Given the description of an element on the screen output the (x, y) to click on. 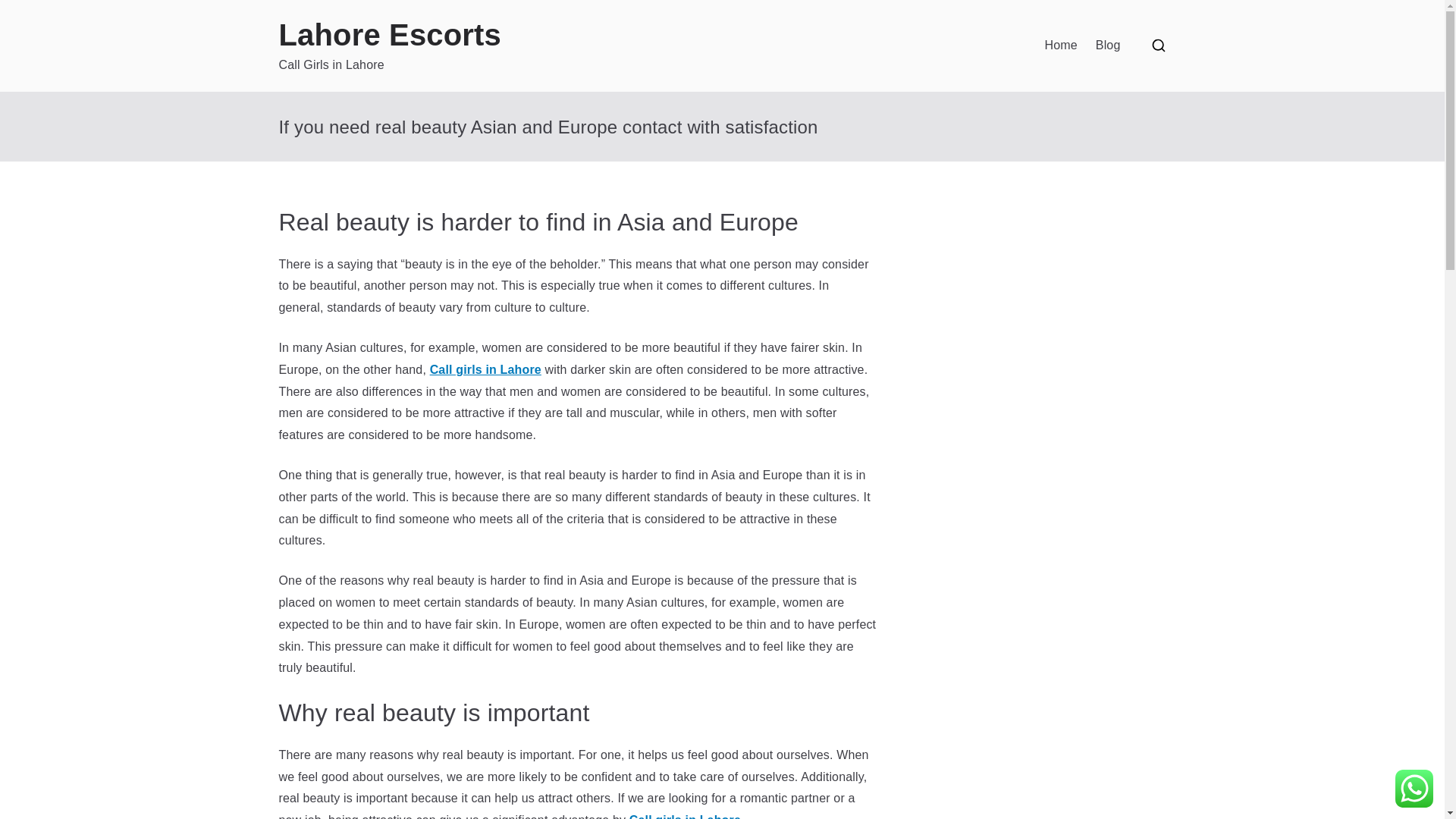
Blog (1108, 45)
Search (26, 12)
Call girls in Lahore (684, 816)
Home (1061, 45)
Lahore Escorts (389, 34)
Call girls in Lahore (485, 369)
